Given the description of an element on the screen output the (x, y) to click on. 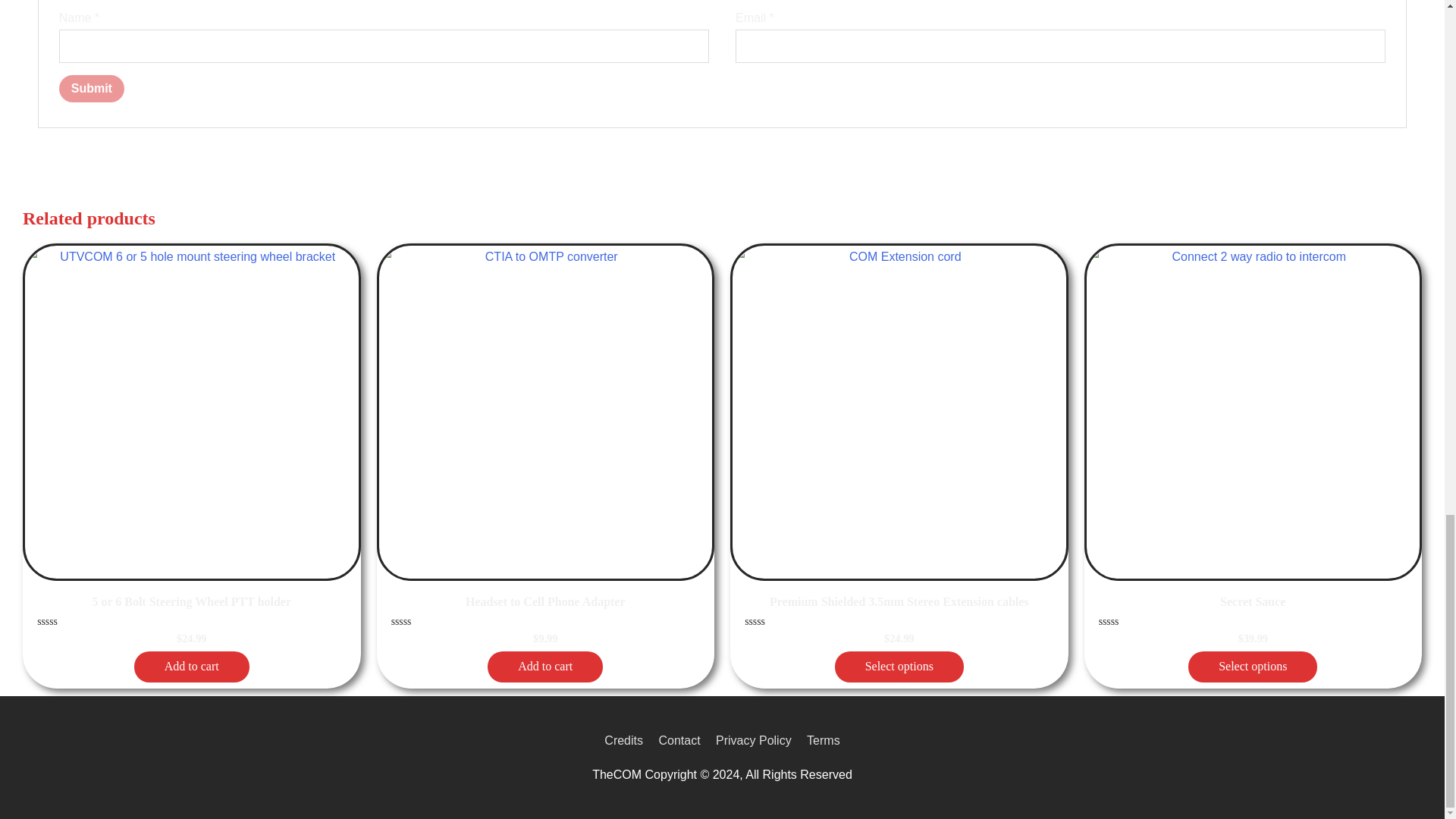
Submit (91, 88)
